Given the description of an element on the screen output the (x, y) to click on. 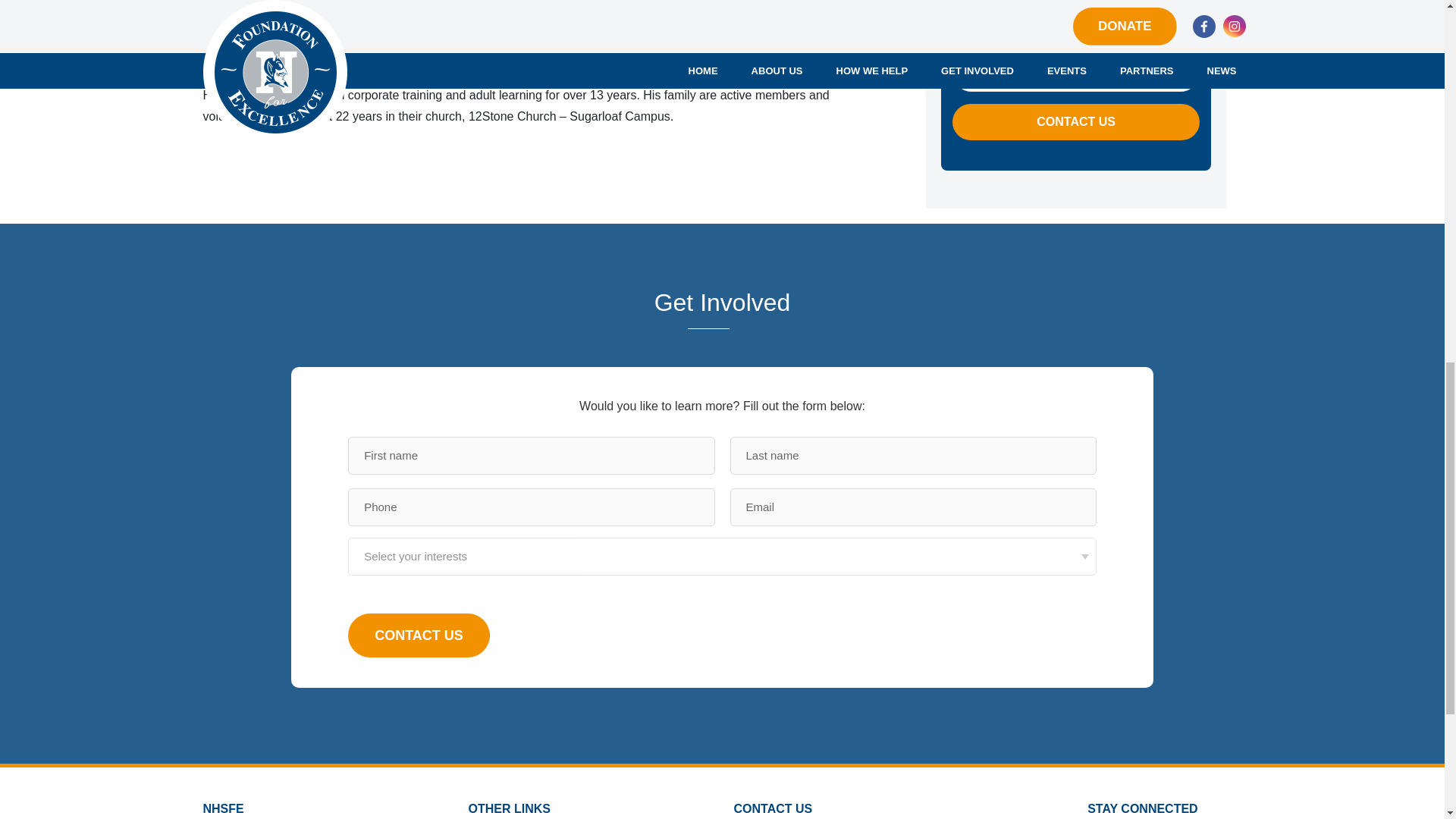
Contact Us (1075, 122)
Contact Us (1075, 122)
Contact Us (418, 635)
Contact Us (418, 635)
